Given the description of an element on the screen output the (x, y) to click on. 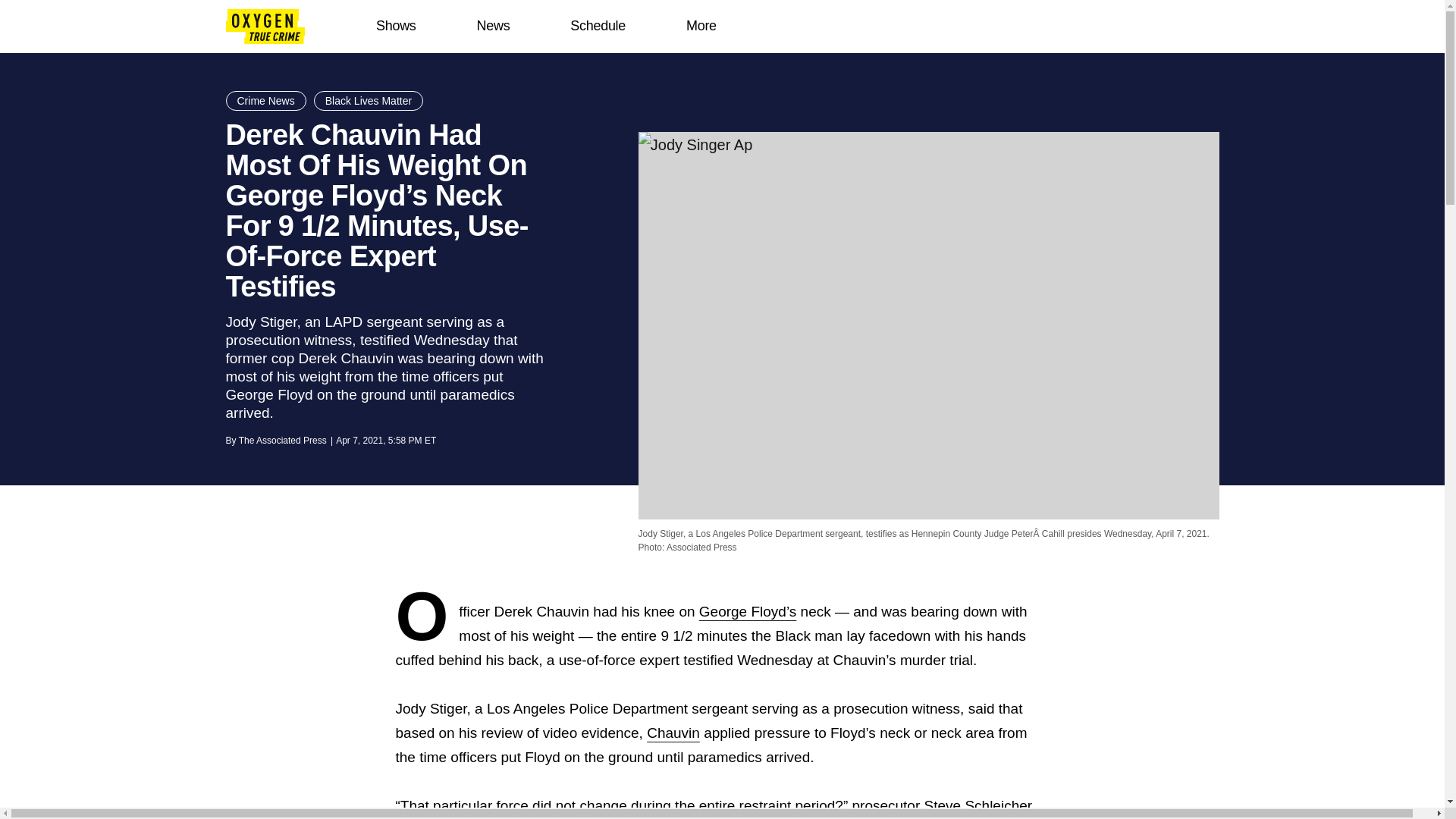
Chauvin (673, 732)
Crime News (265, 100)
Shows (395, 26)
The Associated Press (282, 439)
News (492, 26)
Black Lives Matter (368, 100)
More (700, 26)
Schedule (598, 26)
